Given the description of an element on the screen output the (x, y) to click on. 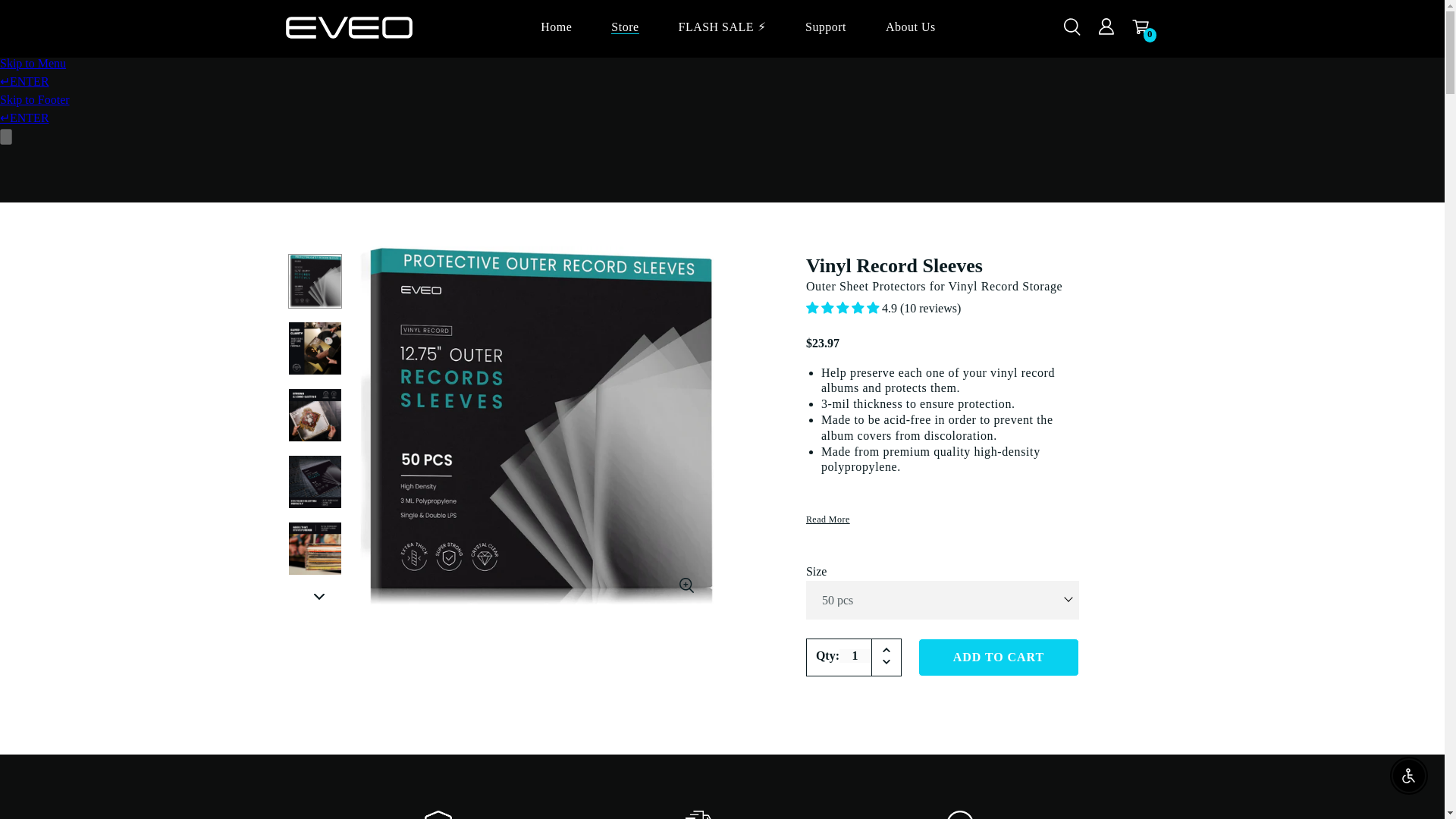
About Us (910, 25)
Home (556, 25)
Support (825, 25)
Next (319, 596)
Store (625, 25)
0 (1145, 29)
1 (855, 655)
EVEO TV (348, 30)
Read More (828, 519)
